Given the description of an element on the screen output the (x, y) to click on. 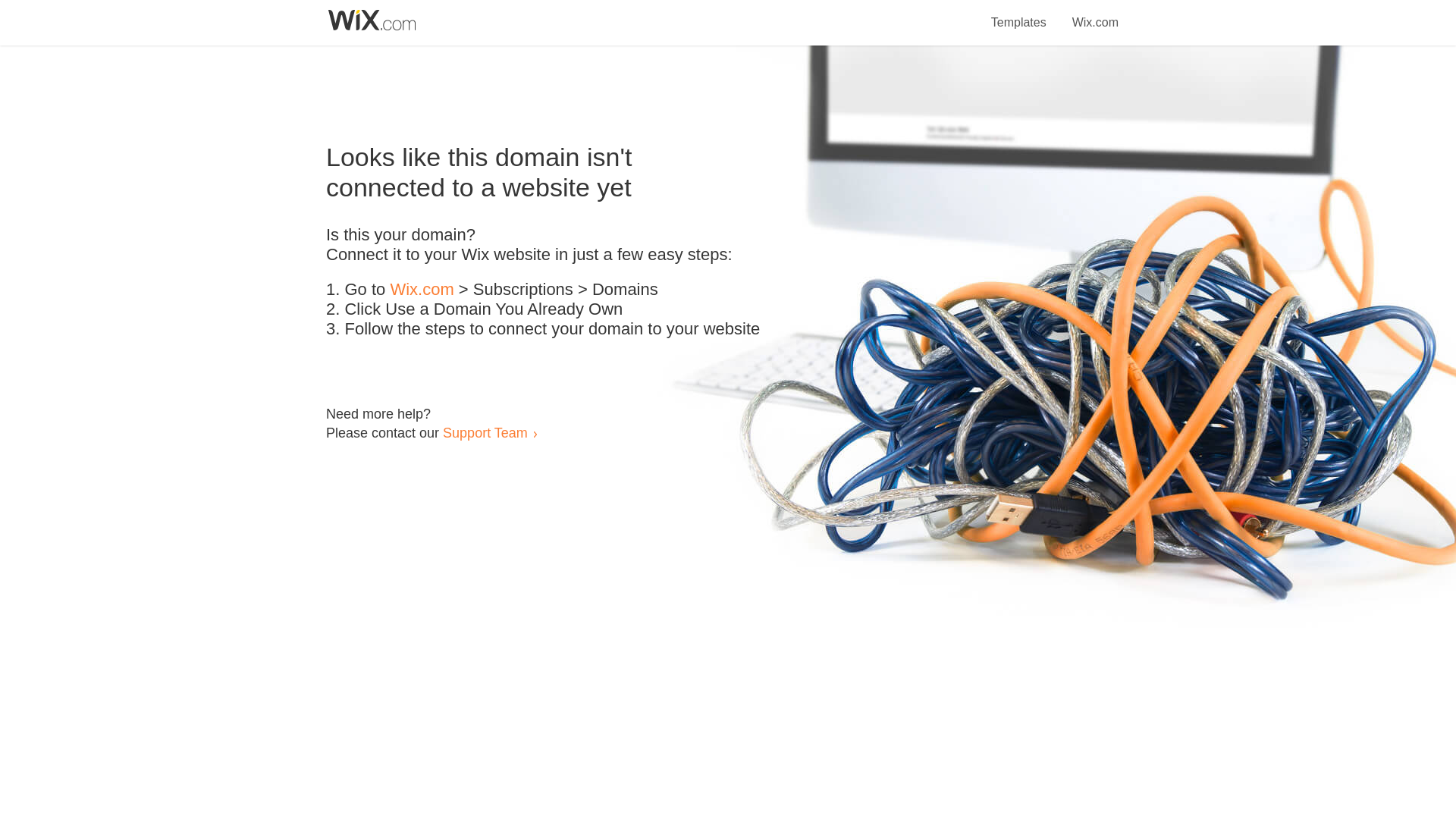
Wix.com (421, 289)
Support Team (484, 432)
Wix.com (1095, 14)
Templates (1018, 14)
